Given the description of an element on the screen output the (x, y) to click on. 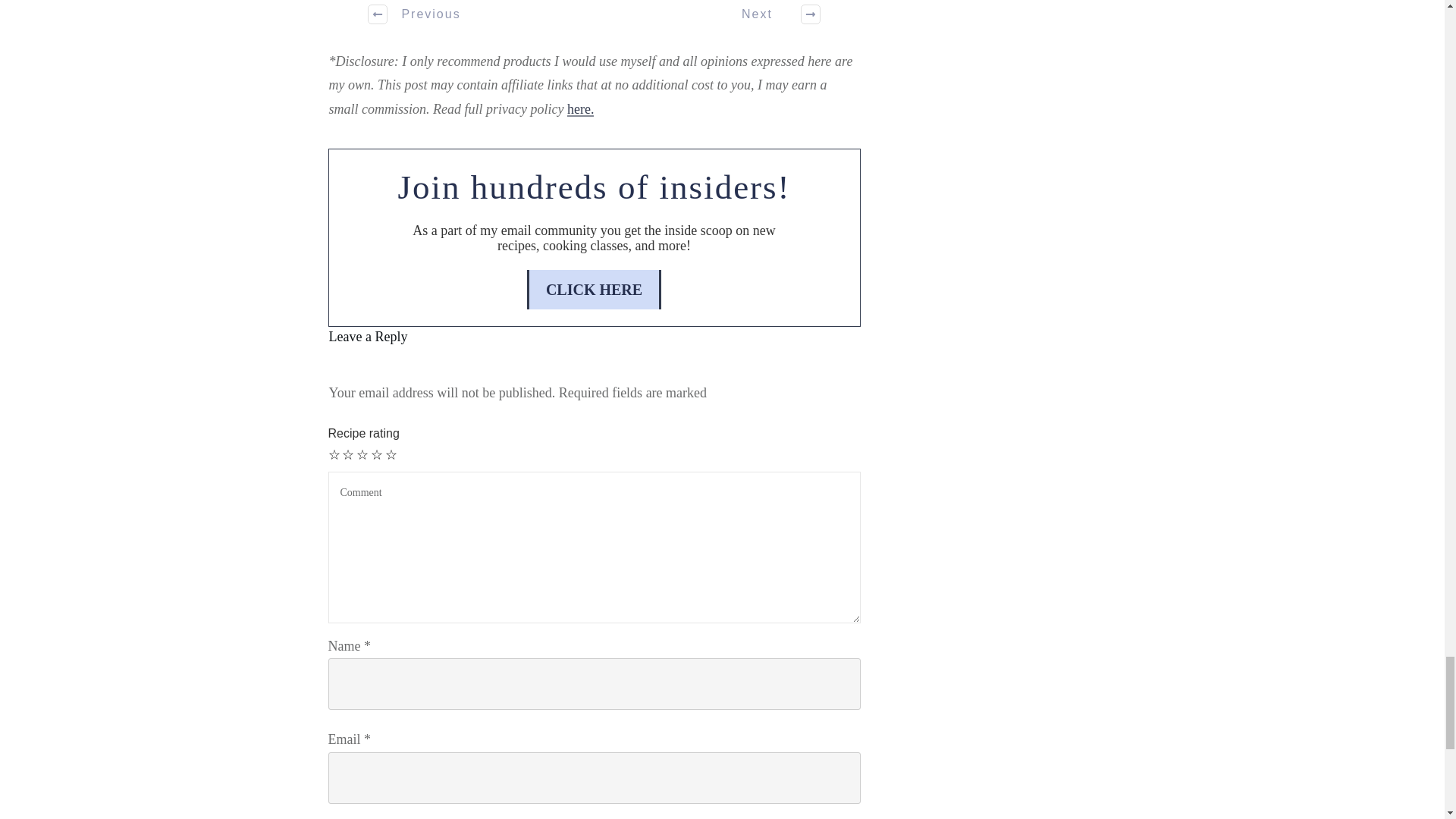
Previous (414, 16)
